Given the description of an element on the screen output the (x, y) to click on. 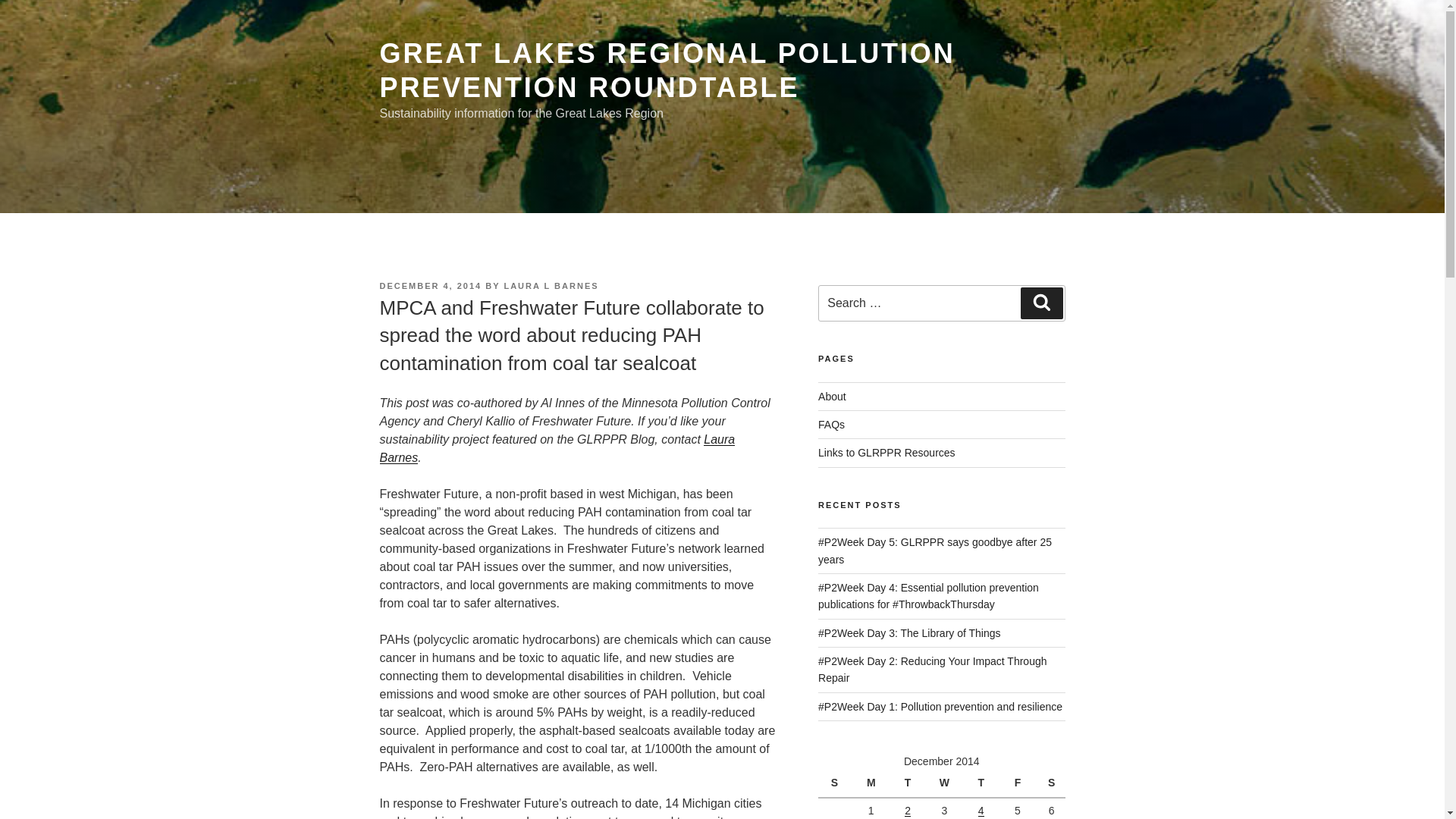
GREAT LAKES REGIONAL POLLUTION PREVENTION ROUNDTABLE (666, 70)
About (831, 396)
Sunday (836, 783)
Monday (872, 783)
LAURA L BARNES (550, 285)
Tuesday (909, 783)
Links to GLRPPR Resources (886, 452)
Friday (1019, 783)
Wednesday (945, 783)
FAQs (831, 424)
Search (1041, 303)
Thursday (982, 783)
DECEMBER 4, 2014 (429, 285)
Saturday (1051, 783)
Laura Barnes (556, 448)
